Given the description of an element on the screen output the (x, y) to click on. 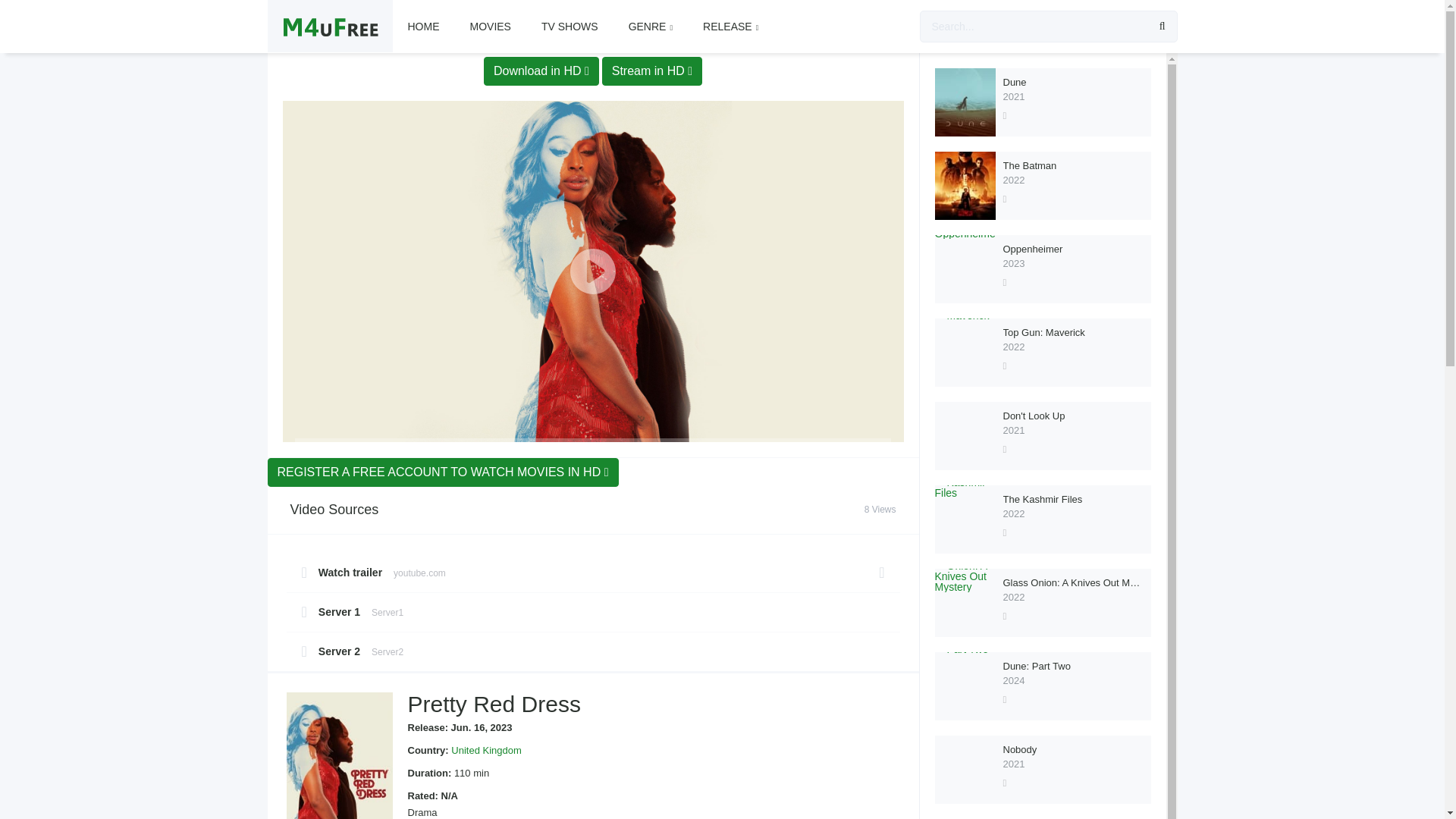
HOME (423, 26)
MOVIES (489, 26)
TV SHOWS (568, 26)
RELEASE (730, 26)
GENRE (649, 26)
